Given the description of an element on the screen output the (x, y) to click on. 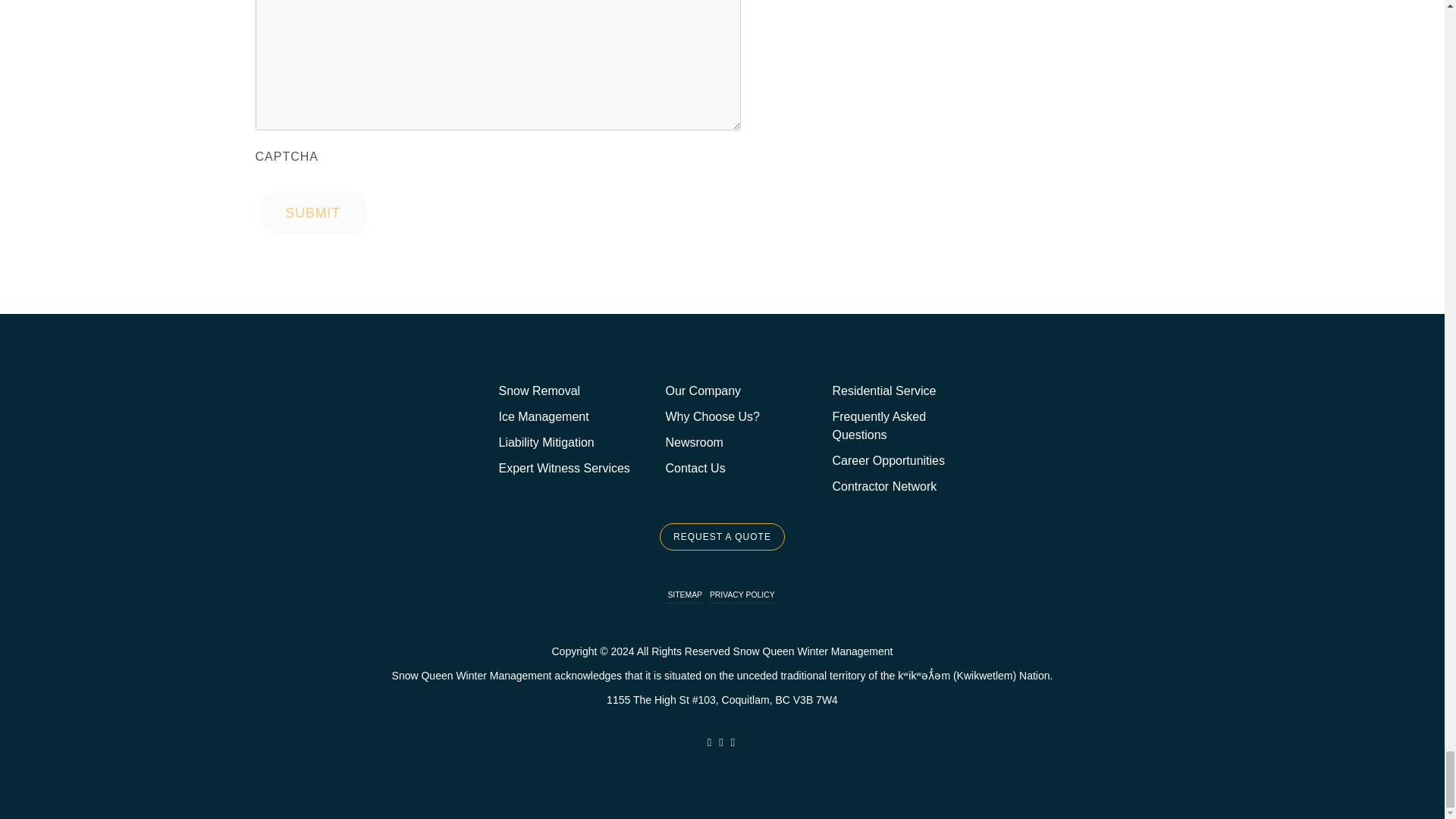
Liability Mitigation (545, 441)
Snow Removal (538, 390)
Ice Management (542, 416)
Submit (312, 212)
Submit (312, 212)
